Given the description of an element on the screen output the (x, y) to click on. 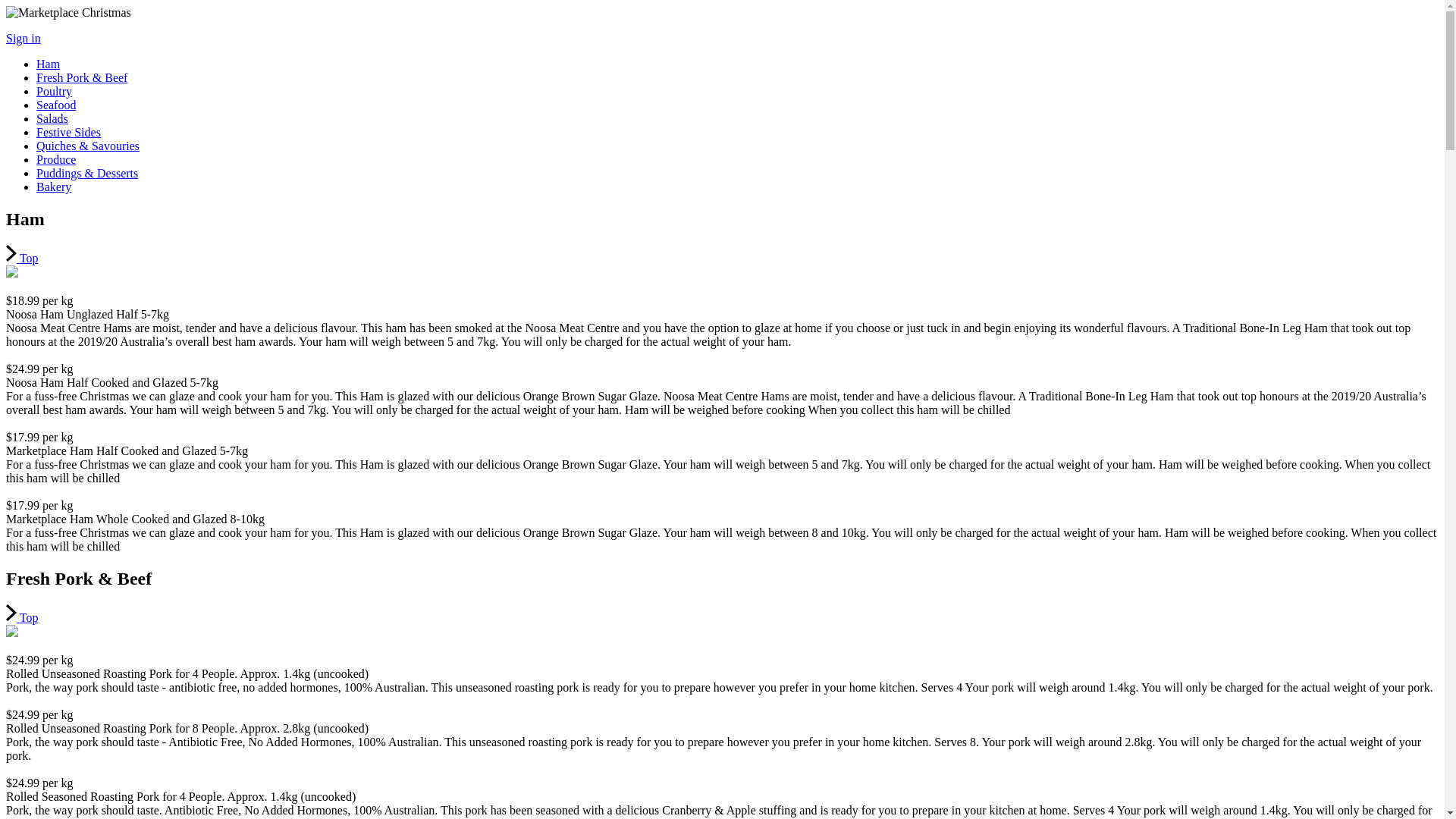
Bakery Element type: text (53, 186)
Seafood Element type: text (55, 104)
Produce Element type: text (55, 159)
Fresh Pork & Beef Element type: text (81, 77)
Top Element type: text (21, 257)
Poultry Element type: text (54, 90)
Quiches & Savouries Element type: text (87, 145)
Ham Element type: text (47, 63)
Salads Element type: text (52, 118)
Festive Sides Element type: text (68, 131)
Sign in Element type: text (23, 37)
Top Element type: text (21, 617)
Puddings & Desserts Element type: text (87, 172)
